Given the description of an element on the screen output the (x, y) to click on. 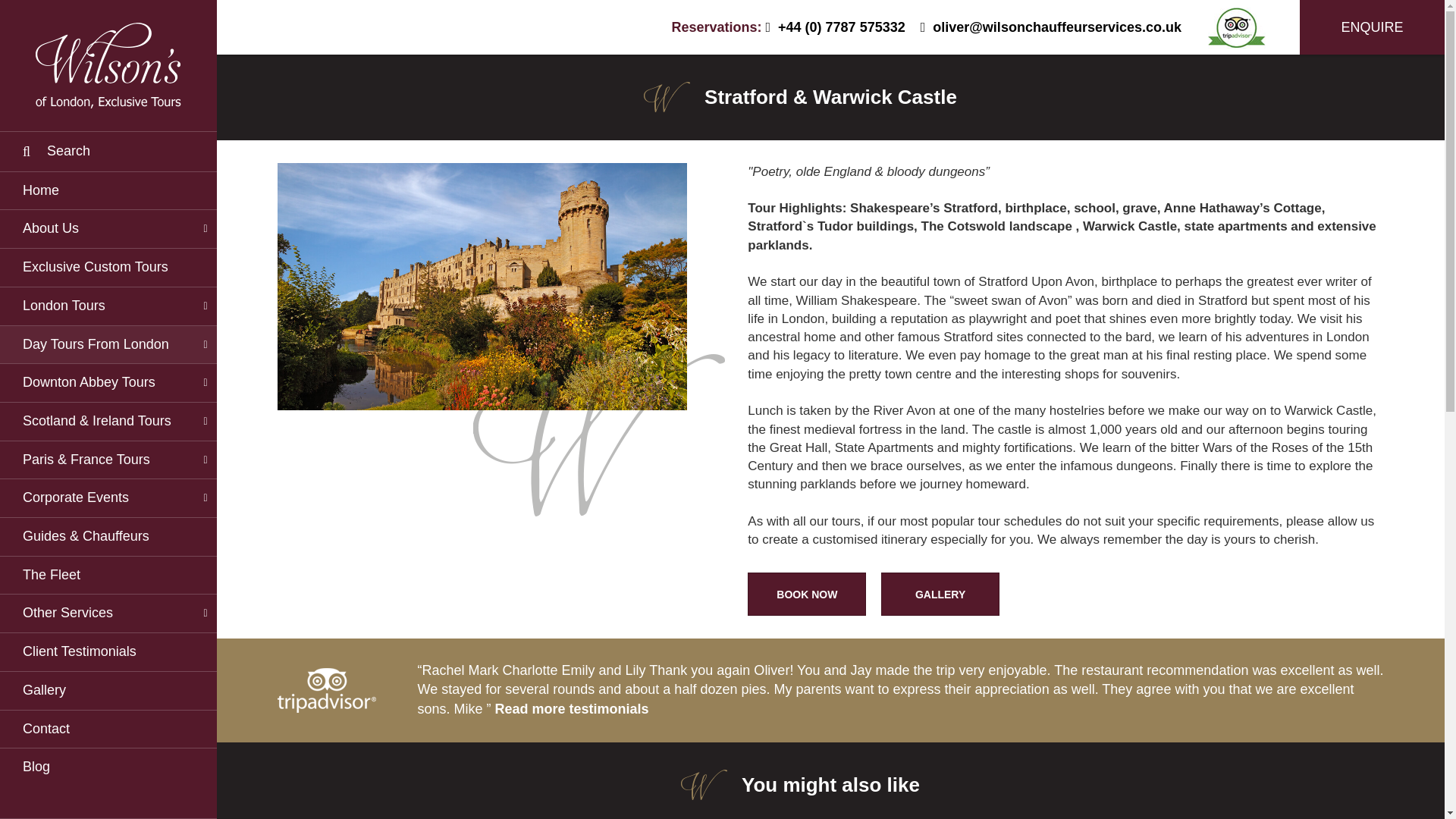
Exclusive Custom Tours (108, 267)
About Us (108, 228)
Home (108, 190)
logo (108, 65)
London Tours (108, 306)
Day Tours From London (108, 344)
